Given the description of an element on the screen output the (x, y) to click on. 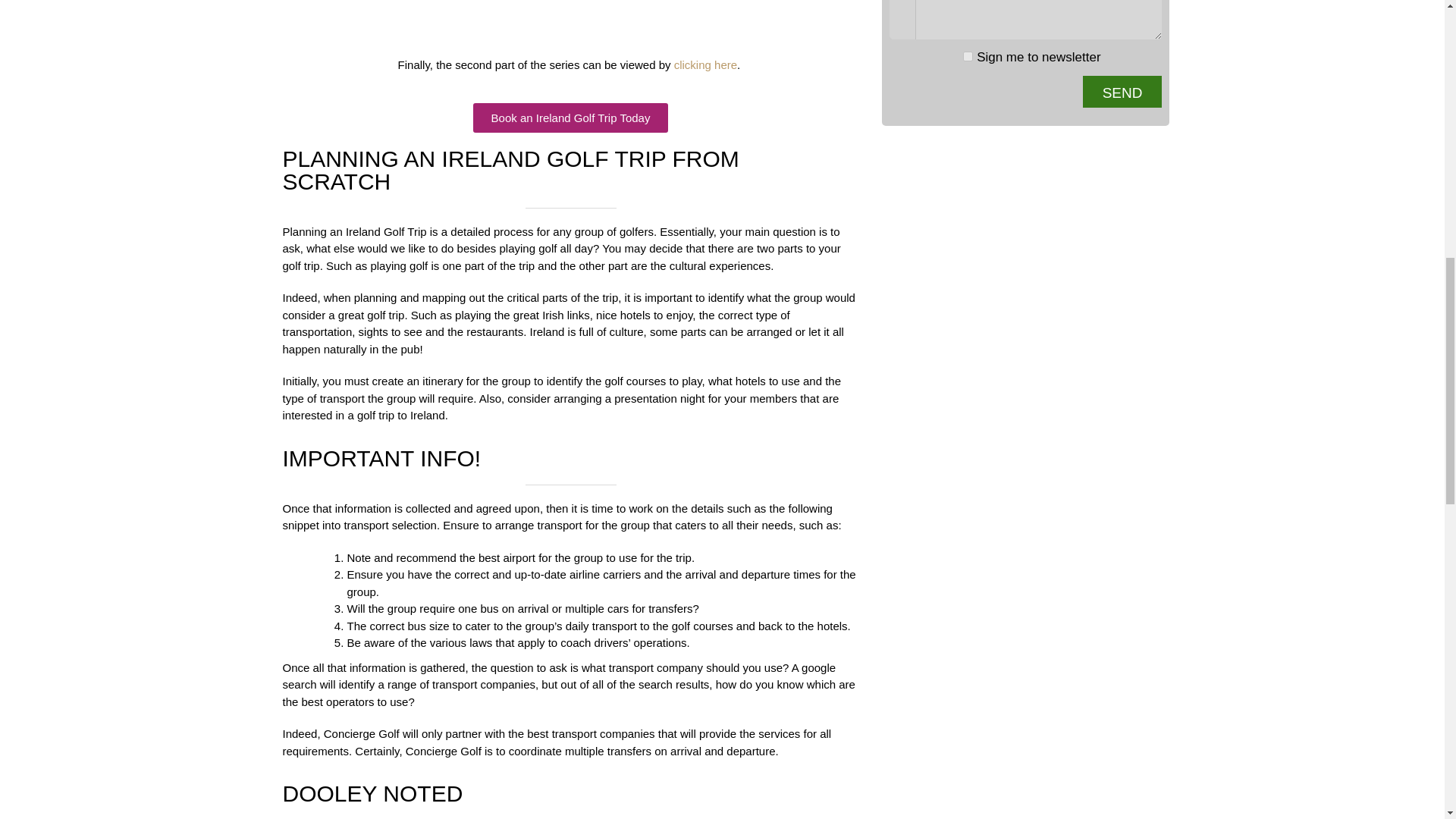
Book an Ireland Golf Trip Today (570, 117)
Send (1122, 91)
clicking here (705, 63)
Send (1122, 91)
Sign me to newsletter (967, 56)
